Given the description of an element on the screen output the (x, y) to click on. 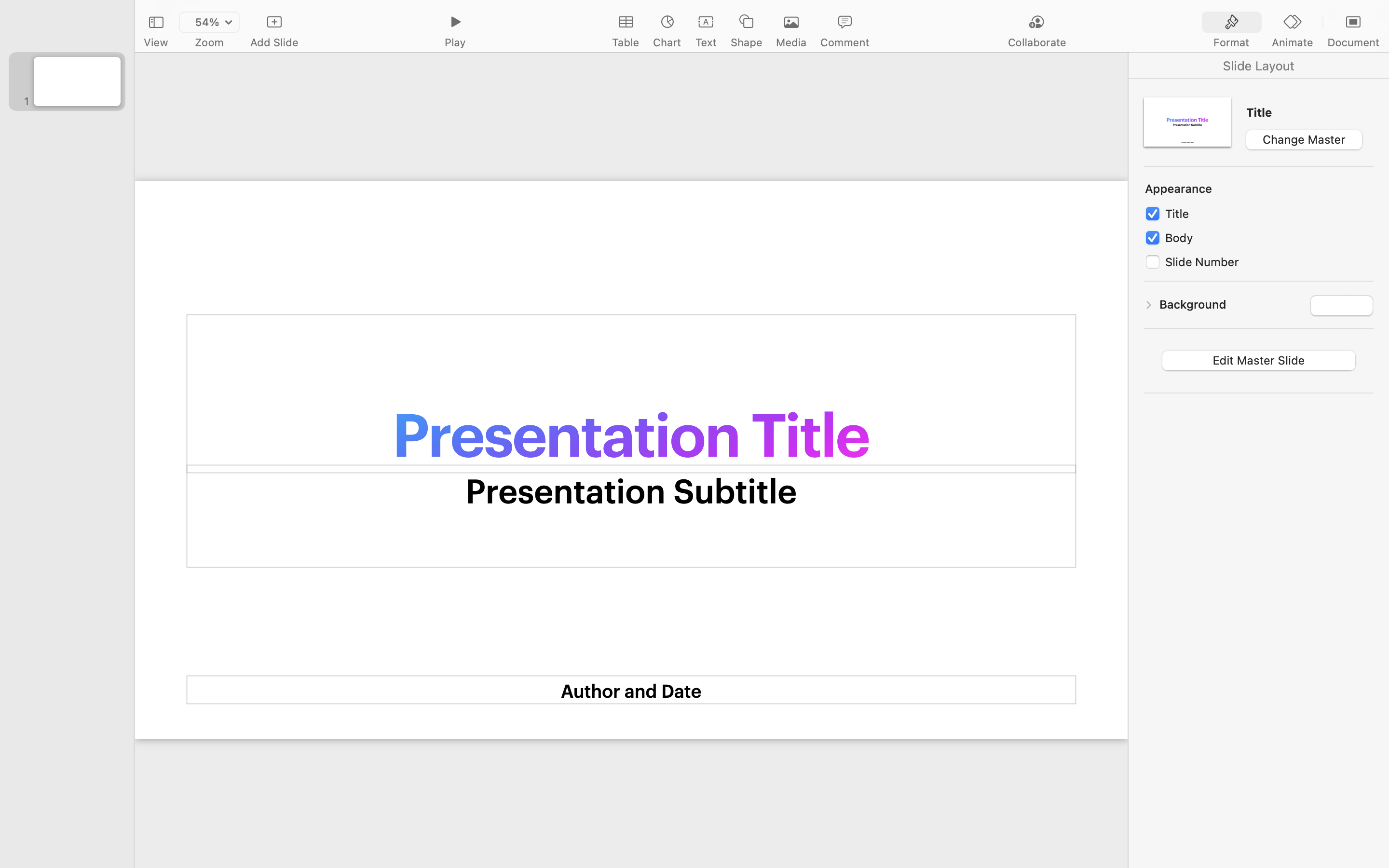
Untitled Element type: AXStaticText (761, 12)
Appearance Element type: AXStaticText (1178, 189)
<AXUIElement 0x287771f70> {pid=1697} Element type: AXGroup (1292, 22)
